Given the description of an element on the screen output the (x, y) to click on. 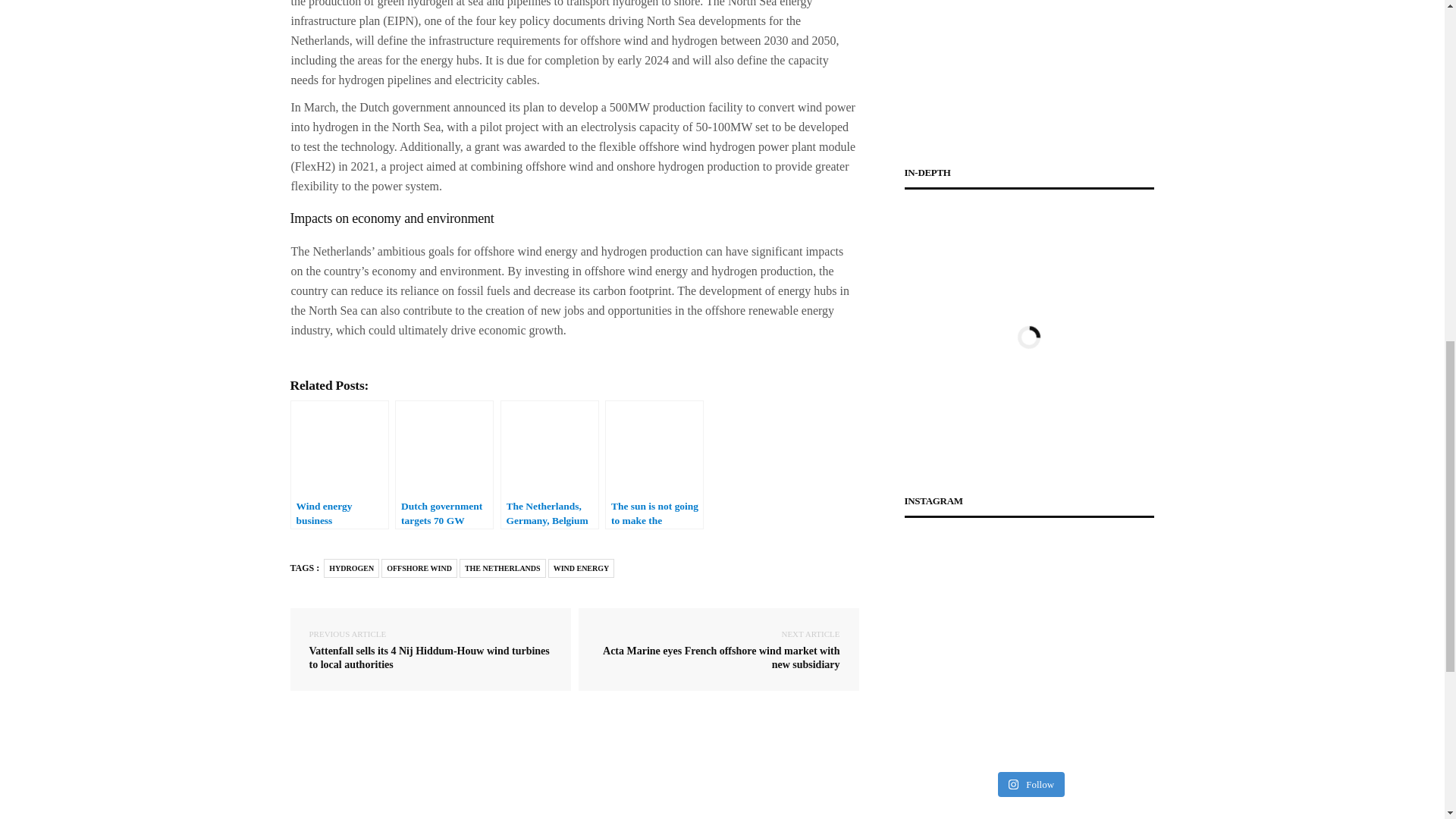
Dutch government targets 70 GW offshore wind by 2050 (443, 464)
